Given the description of an element on the screen output the (x, y) to click on. 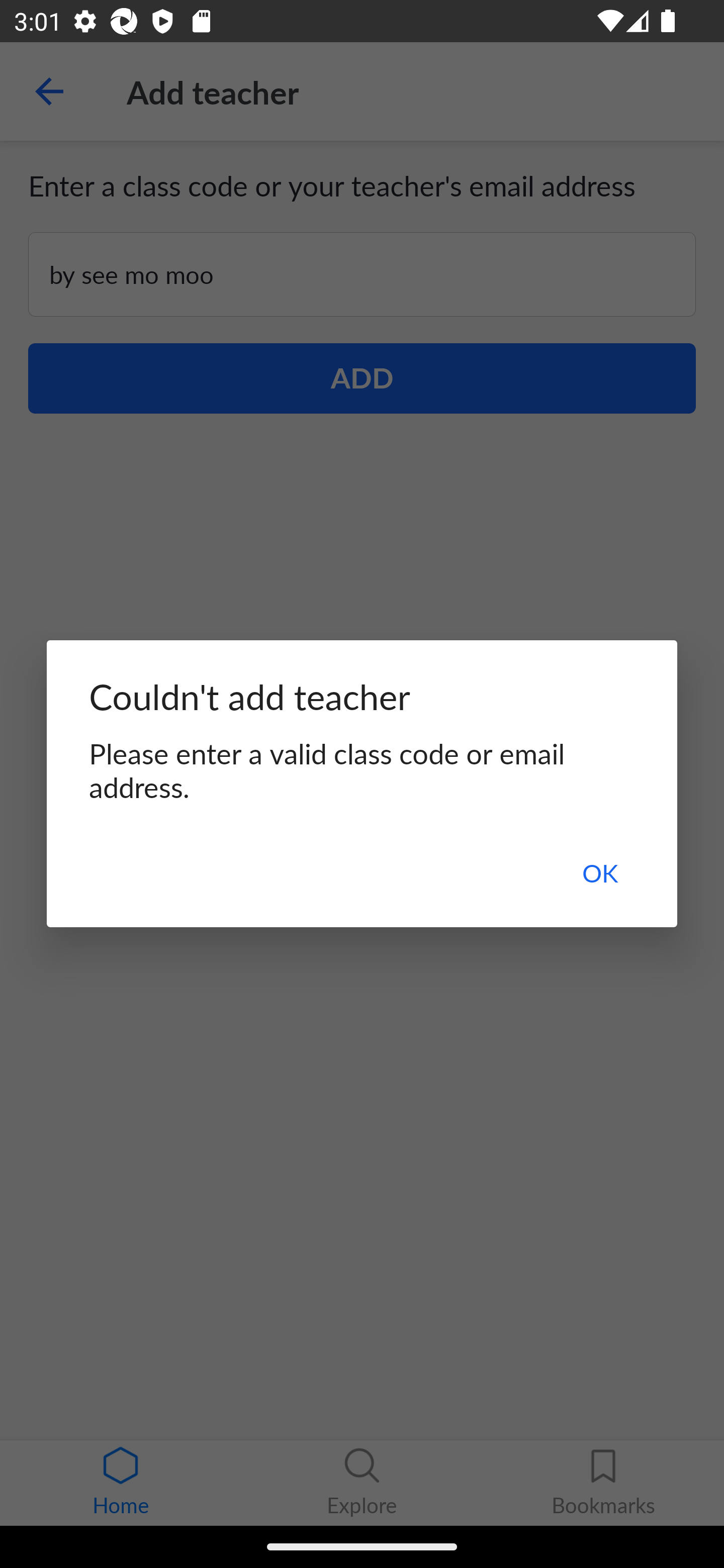
OK (599, 872)
